Given the description of an element on the screen output the (x, y) to click on. 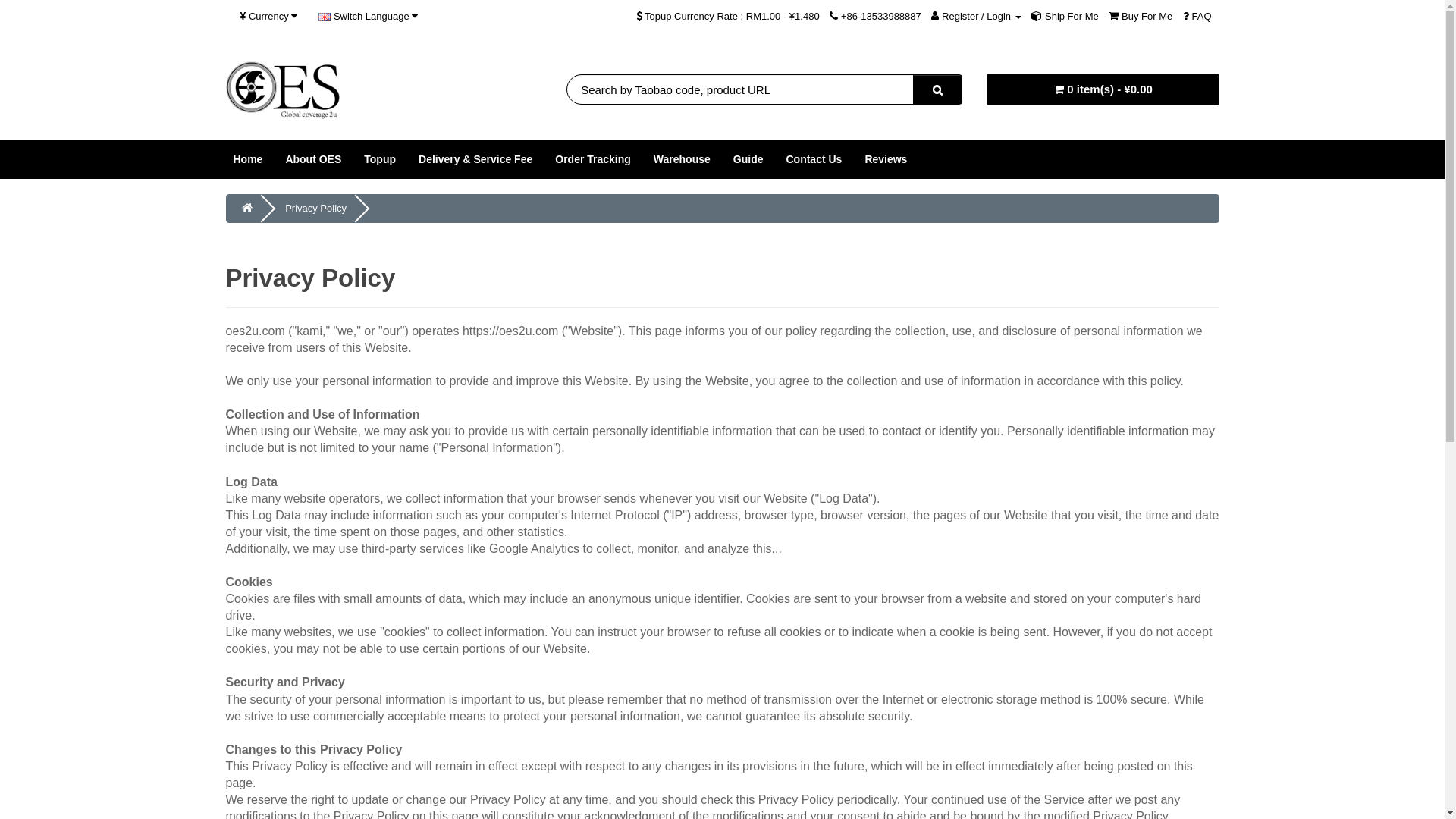
Ship For Me Element type: text (1064, 15)
Privacy Policy Element type: text (315, 207)
Warehouse Element type: text (681, 159)
Buy For Me Element type: text (1140, 15)
Reviews Element type: text (885, 159)
Delivery & Service Fee Element type: text (475, 159)
About OES Element type: text (312, 159)
English Element type: hover (324, 16)
Topup Element type: text (379, 159)
FAQ Element type: text (1197, 15)
Order Tracking Element type: text (592, 159)
Contact Us Element type: text (813, 159)
Home Element type: text (247, 159)
Guide Element type: text (748, 159)
Register / Login Element type: text (975, 15)
Switch Language Element type: text (367, 16)
